Given the description of an element on the screen output the (x, y) to click on. 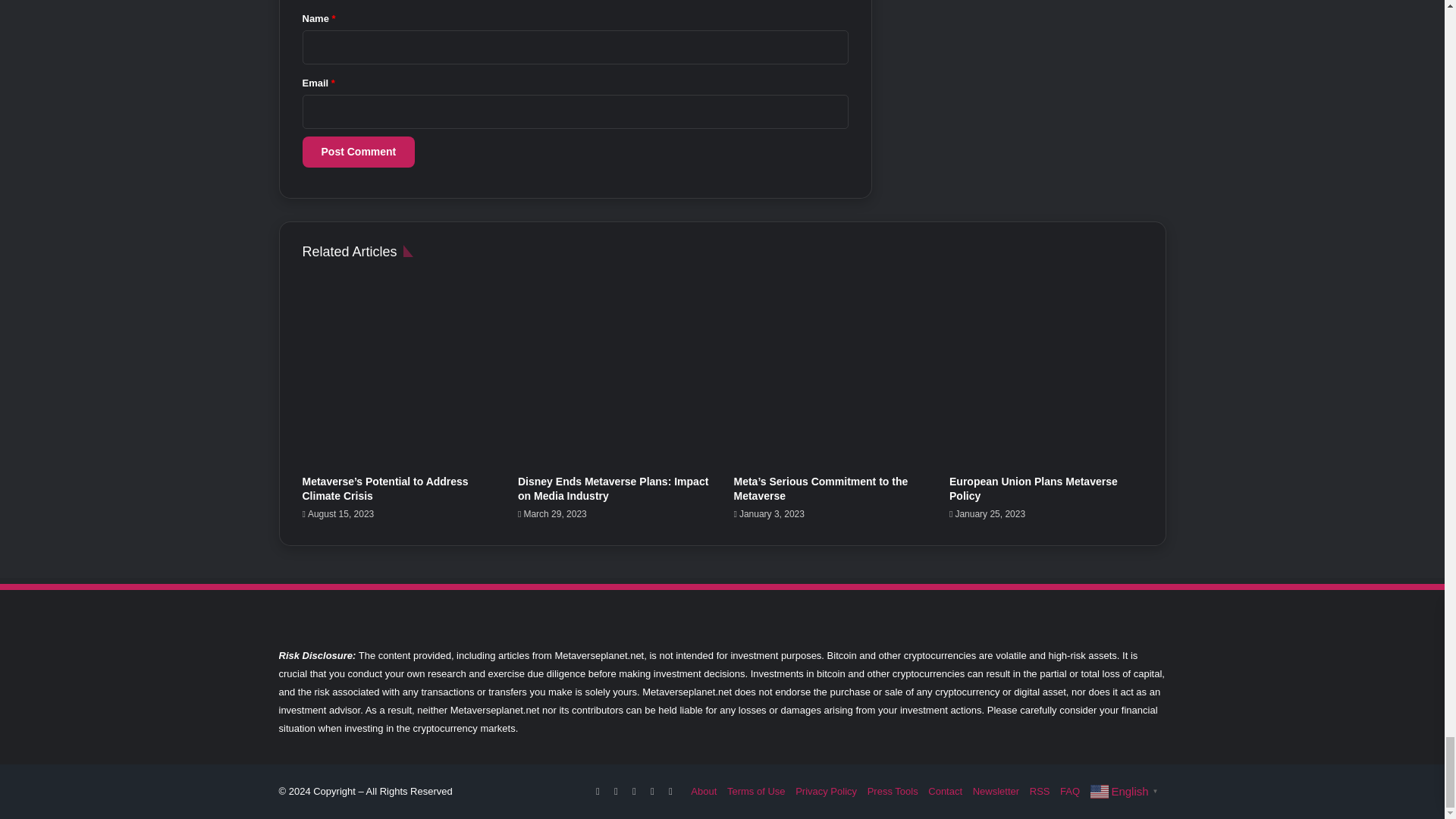
Post Comment (357, 151)
